Given the description of an element on the screen output the (x, y) to click on. 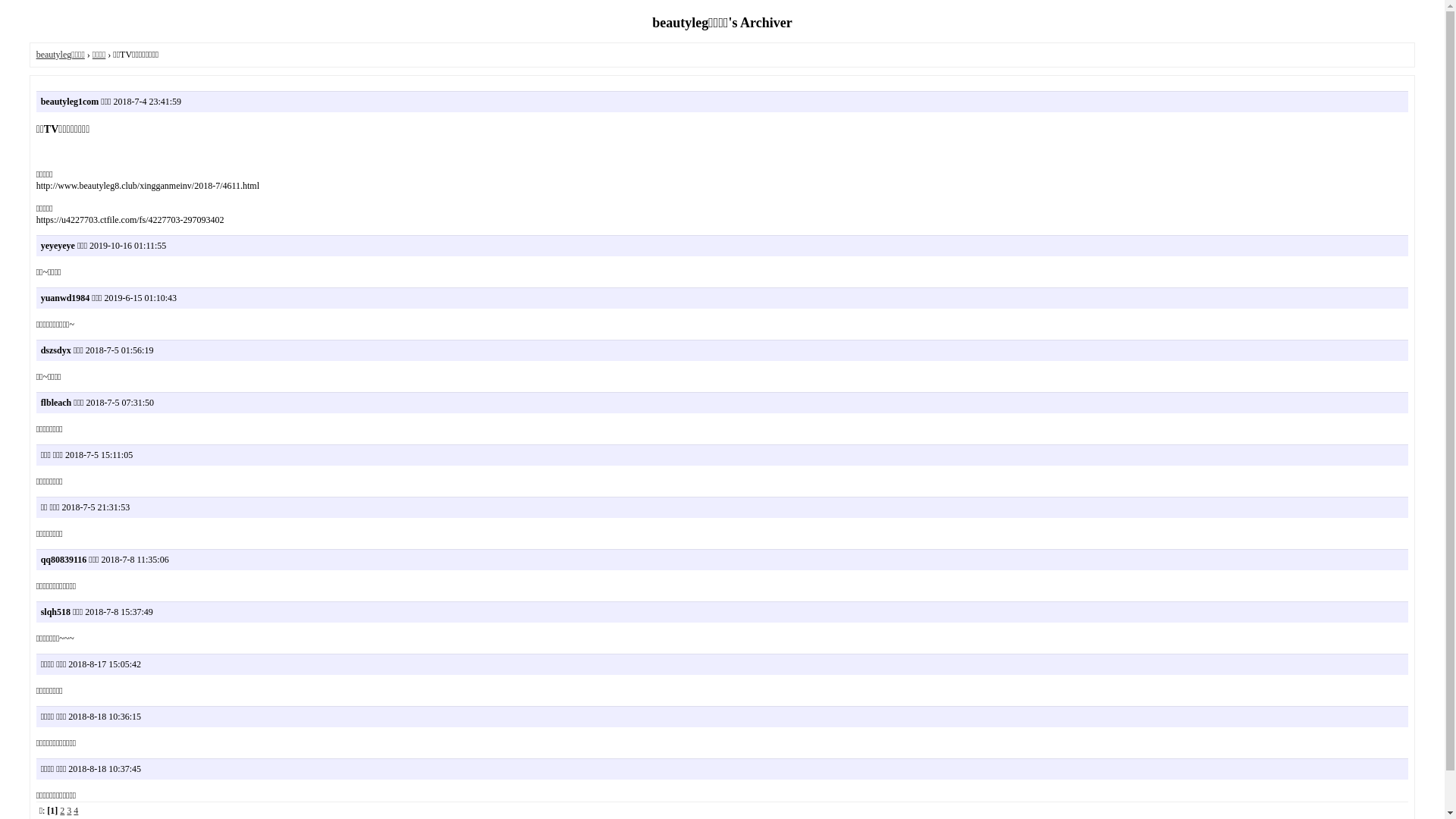
4 Element type: text (75, 810)
3 Element type: text (68, 810)
2 Element type: text (61, 810)
